Given the description of an element on the screen output the (x, y) to click on. 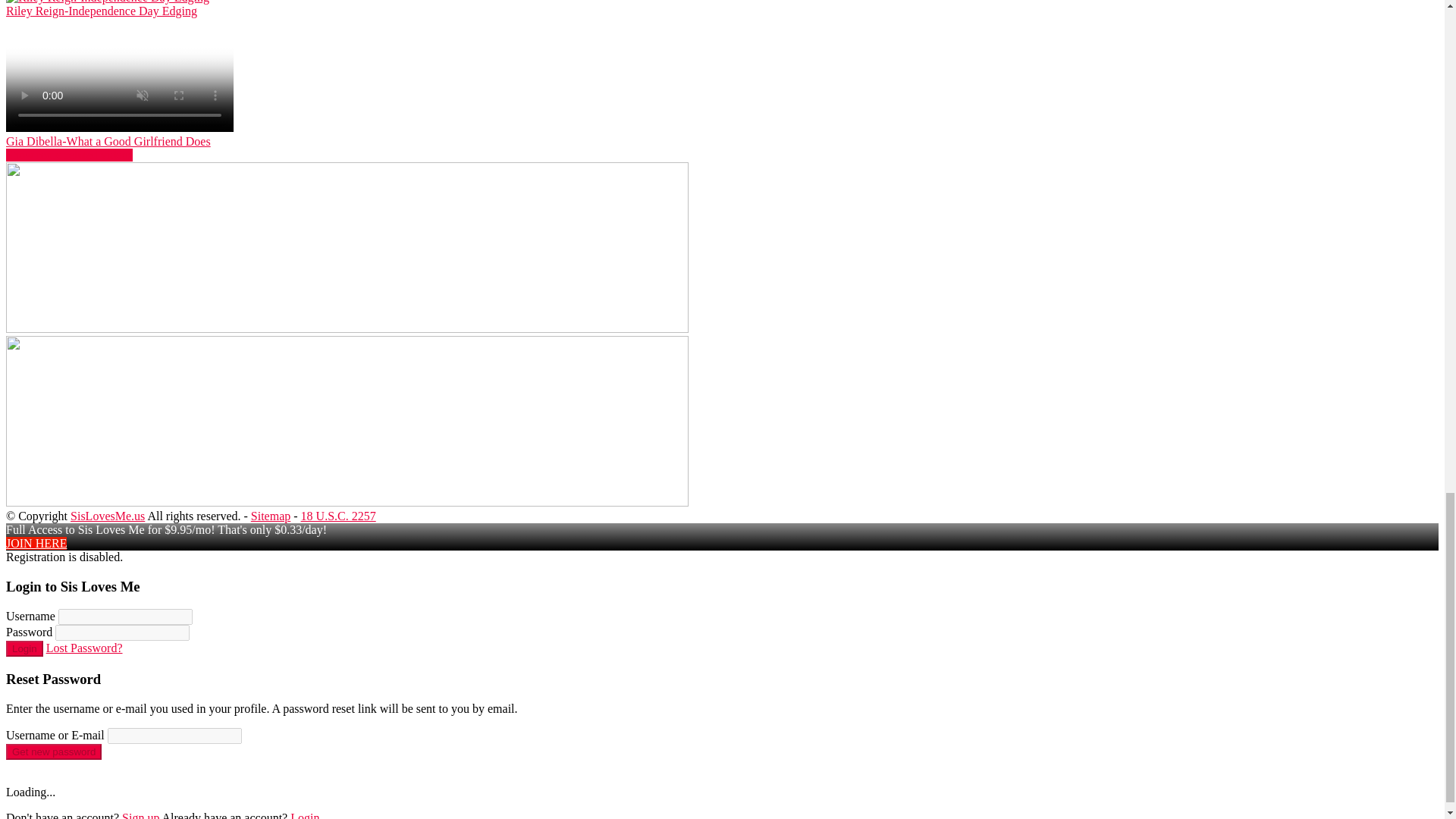
Show more related videos (68, 154)
